Given the description of an element on the screen output the (x, y) to click on. 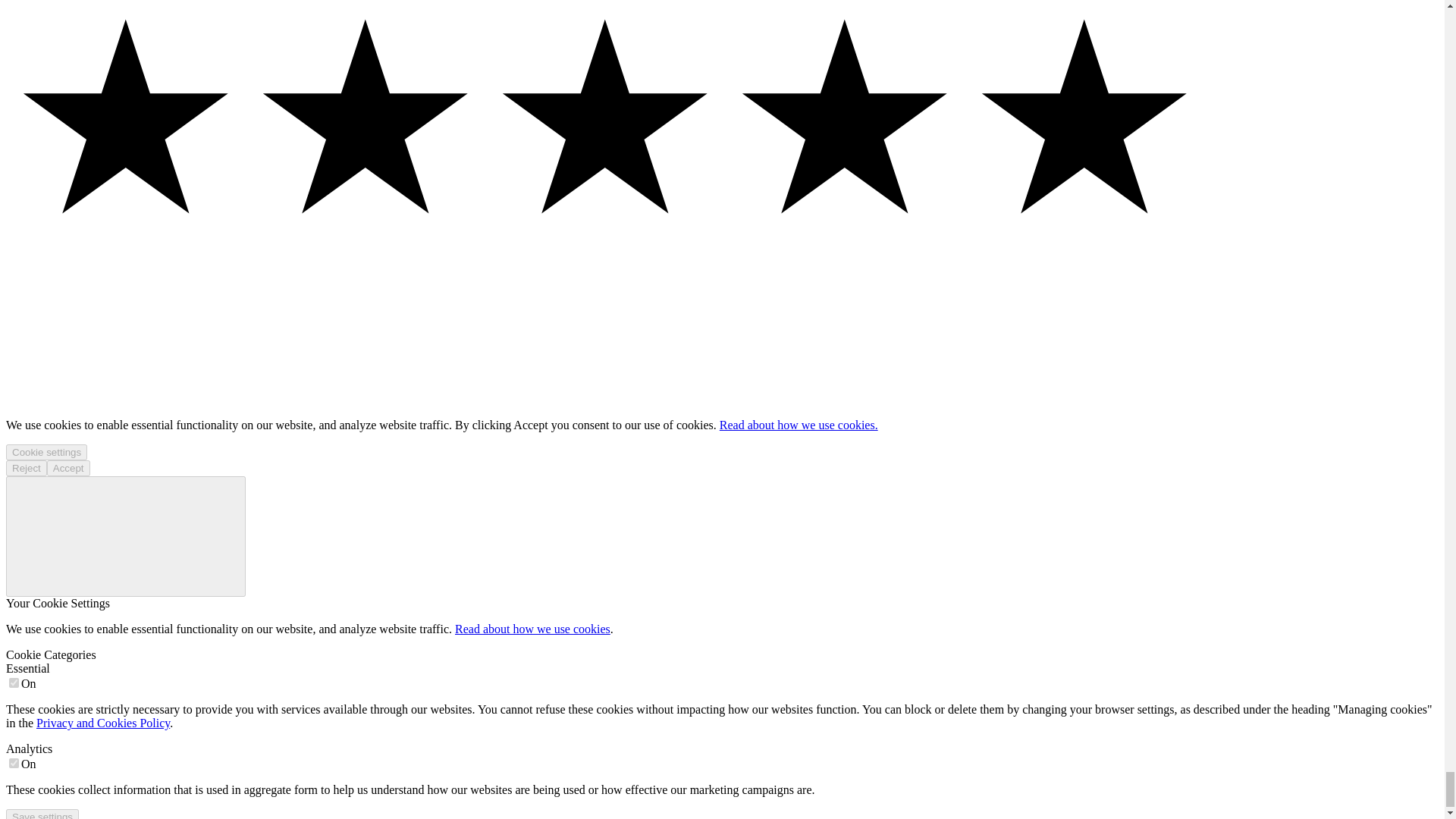
Reject (25, 467)
on (13, 763)
Privacy and Cookies Policy (103, 722)
Accept (68, 467)
Read about how we use cookies (532, 628)
Read about how we use cookies. (798, 424)
Cookie settings (46, 452)
on (13, 682)
